Given the description of an element on the screen output the (x, y) to click on. 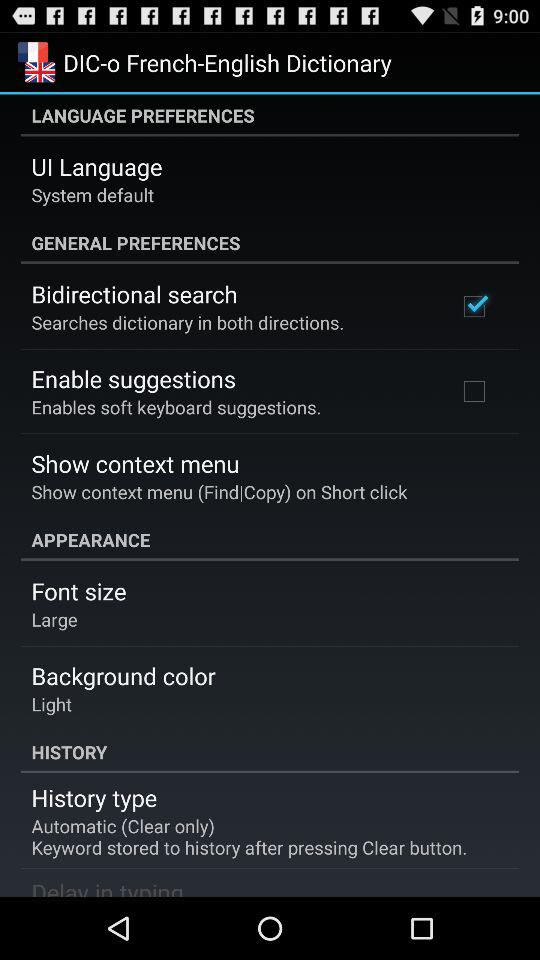
open the icon below the enable suggestions item (176, 406)
